Given the description of an element on the screen output the (x, y) to click on. 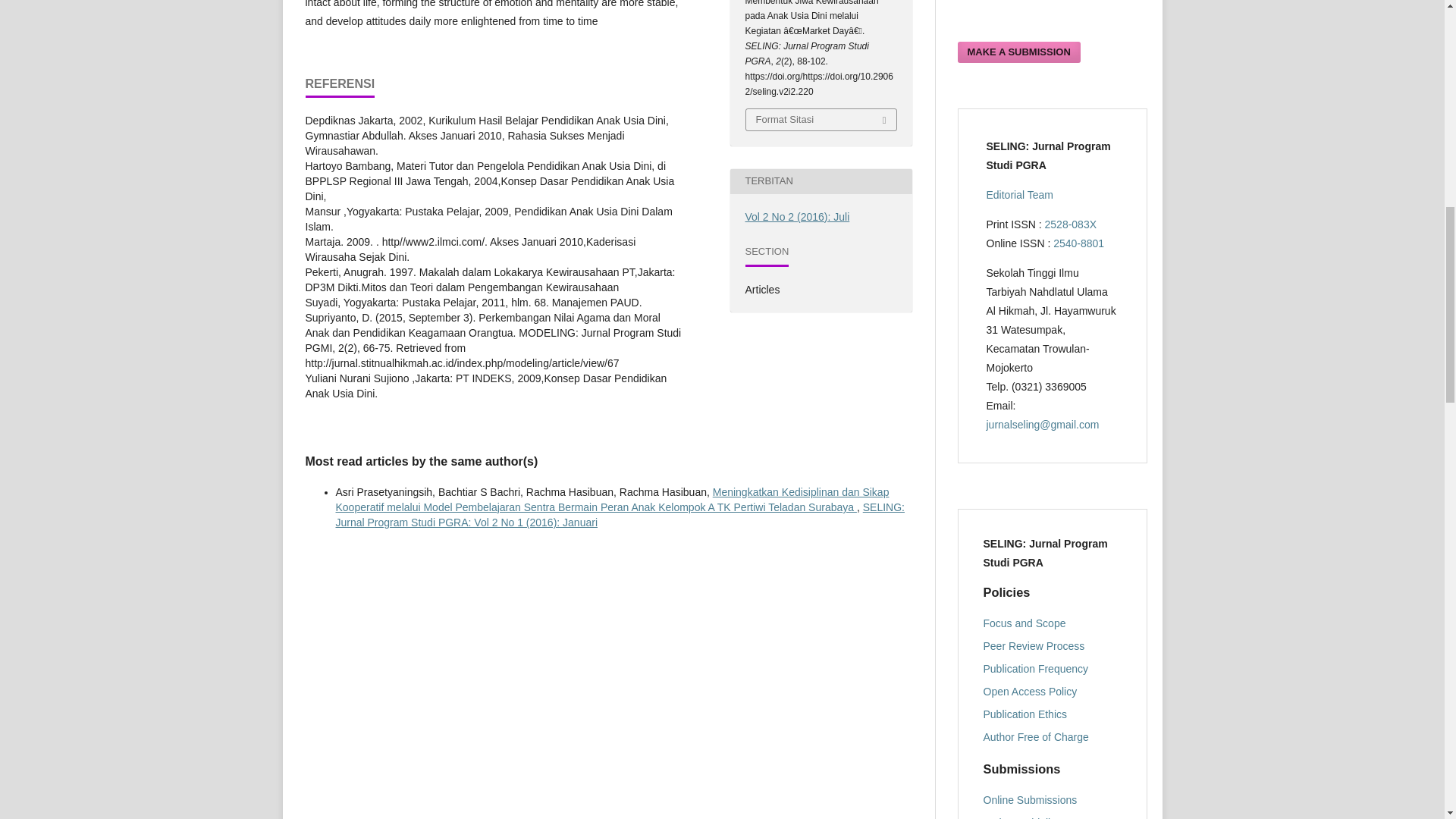
e-ISSN (1077, 243)
Policy (1029, 691)
Format Sitasi (820, 119)
Review (1033, 645)
ISSN (1071, 224)
Publication (1034, 668)
Publication Ethics (1024, 714)
Fees (1034, 736)
Focus and Scope (1023, 623)
Author Guidelines (1024, 817)
